Given the description of an element on the screen output the (x, y) to click on. 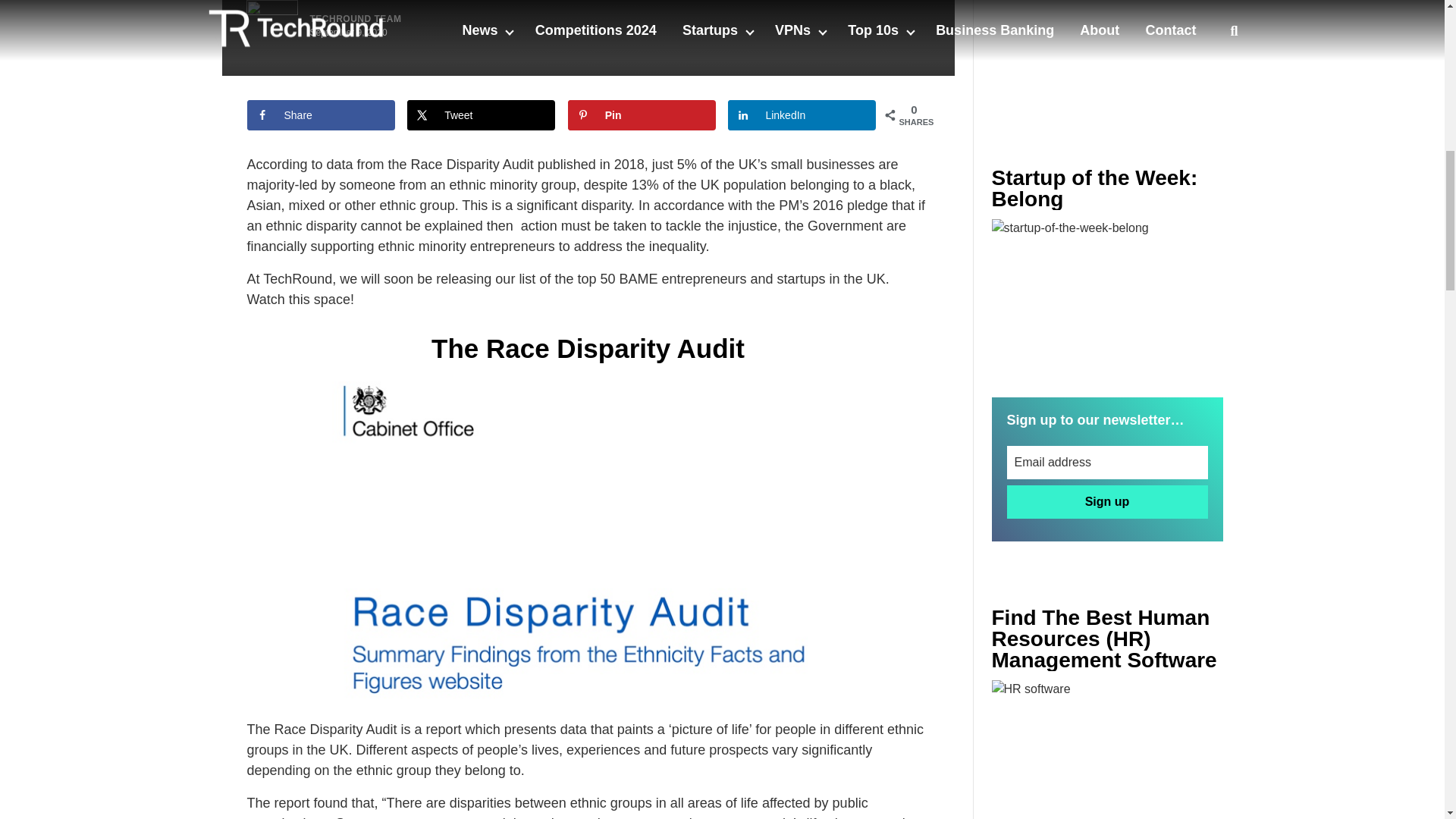
Share on X (480, 114)
Enter The BAME Top 50 Entrepreneurs - Deadline 10th Nov 2021 (1107, 749)
Sign up (1107, 501)
Startup of the Week: Neon Link (1107, 296)
Save to Pinterest (641, 114)
Share on Facebook (320, 114)
Share on LinkedIn (802, 114)
